Given the description of an element on the screen output the (x, y) to click on. 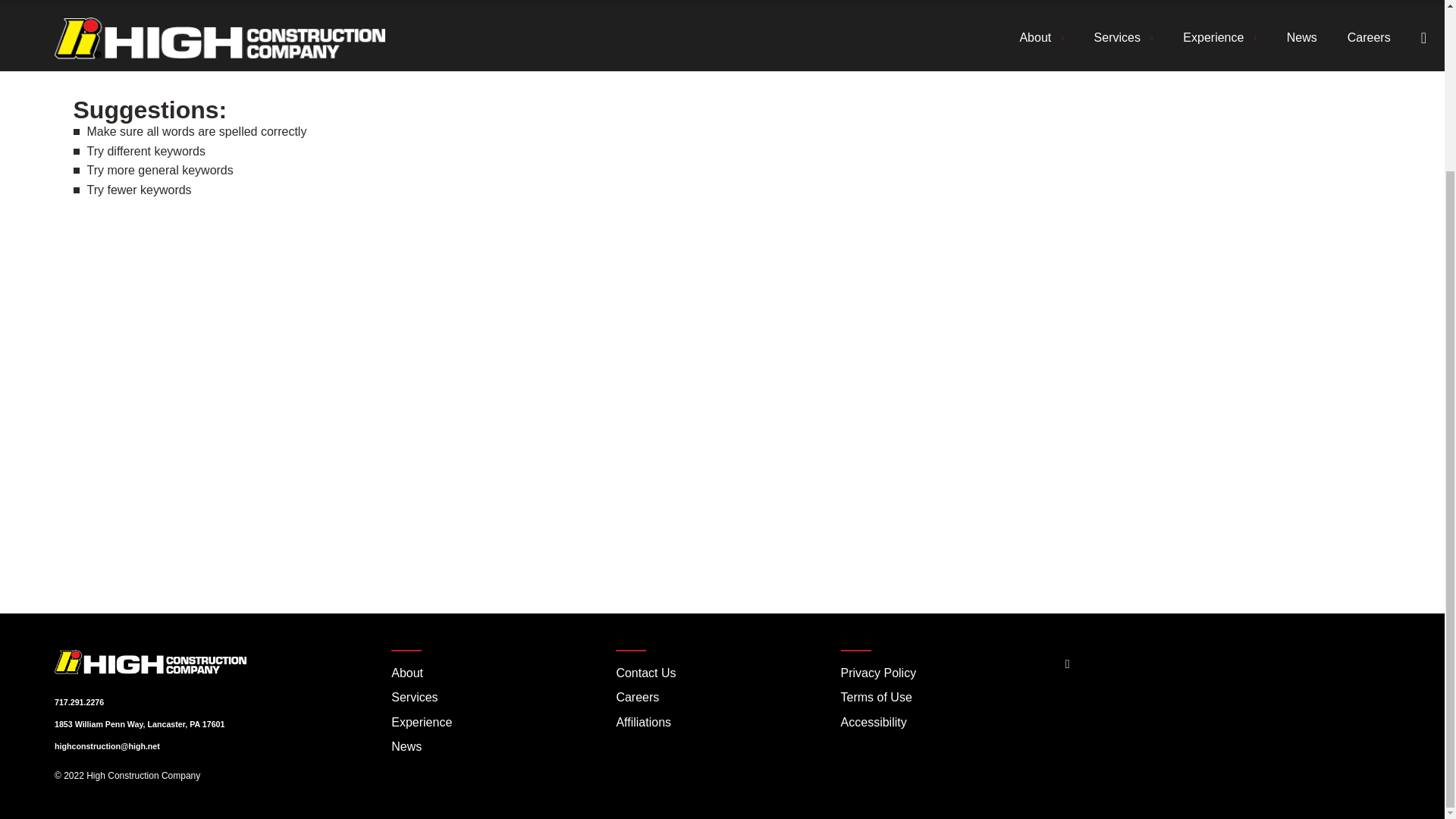
About (497, 673)
Lancaster, PA 17601 (186, 723)
717.291.2276 (79, 701)
1853 William Penn Way, (100, 723)
